Given the description of an element on the screen output the (x, y) to click on. 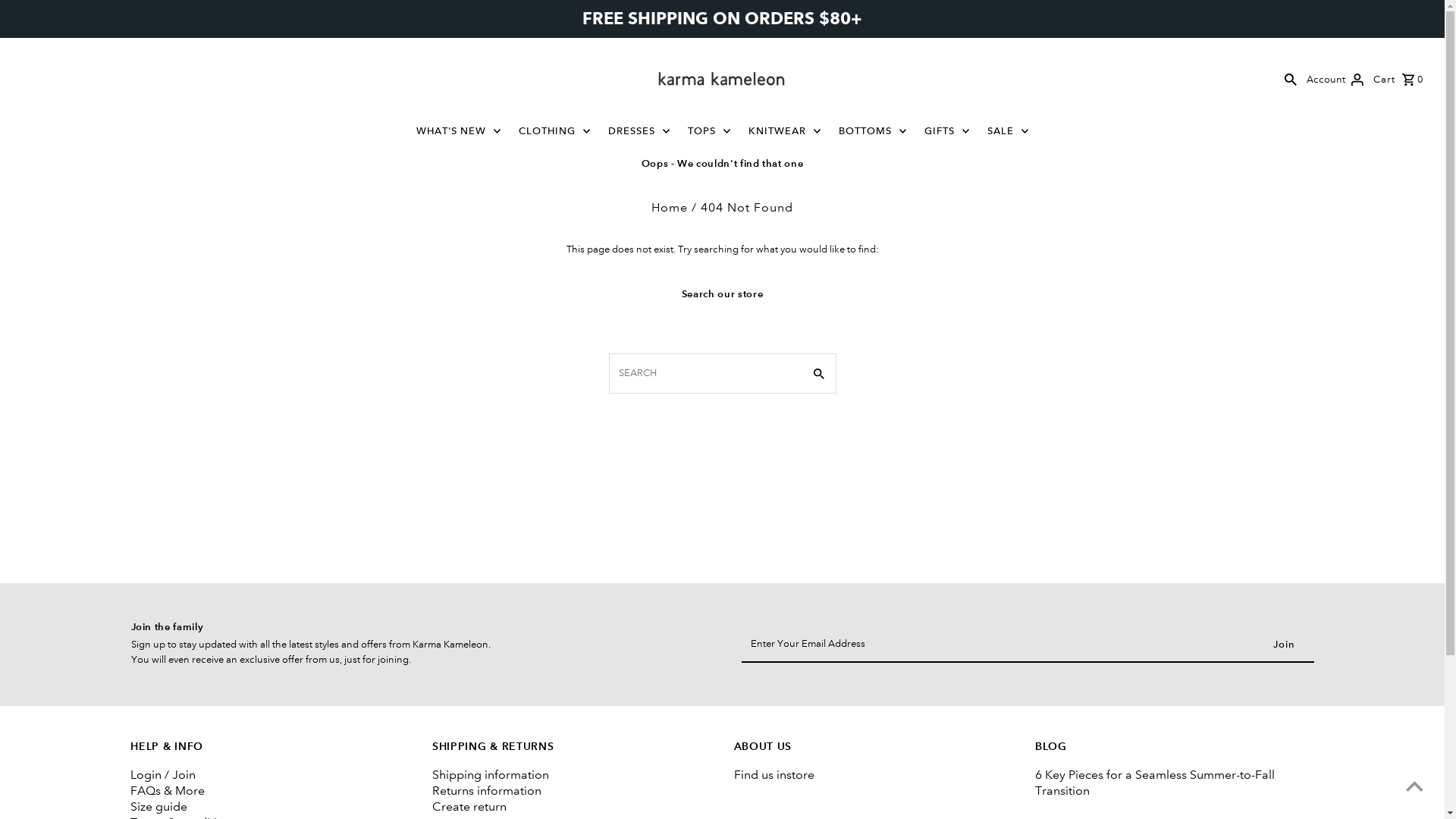
Login / Join Element type: text (162, 774)
DRESSES Element type: text (638, 130)
Find us instore Element type: text (774, 774)
CLOTHING Element type: text (554, 130)
Join Element type: text (1284, 644)
Create return Element type: text (469, 806)
Size guide Element type: text (158, 806)
FAQs & More Element type: text (167, 790)
BOTTOMS Element type: text (872, 130)
Returns information Element type: text (486, 790)
6 Key Pieces for a Seamless Summer-to-Fall Transition Element type: text (1154, 782)
KNITWEAR Element type: text (784, 130)
Home Element type: text (669, 207)
Shipping information Element type: text (490, 774)
TOPS Element type: text (708, 130)
GIFTS Element type: text (946, 130)
WHAT'S NEW Element type: text (457, 130)
SALE Element type: text (1007, 130)
